Given the description of an element on the screen output the (x, y) to click on. 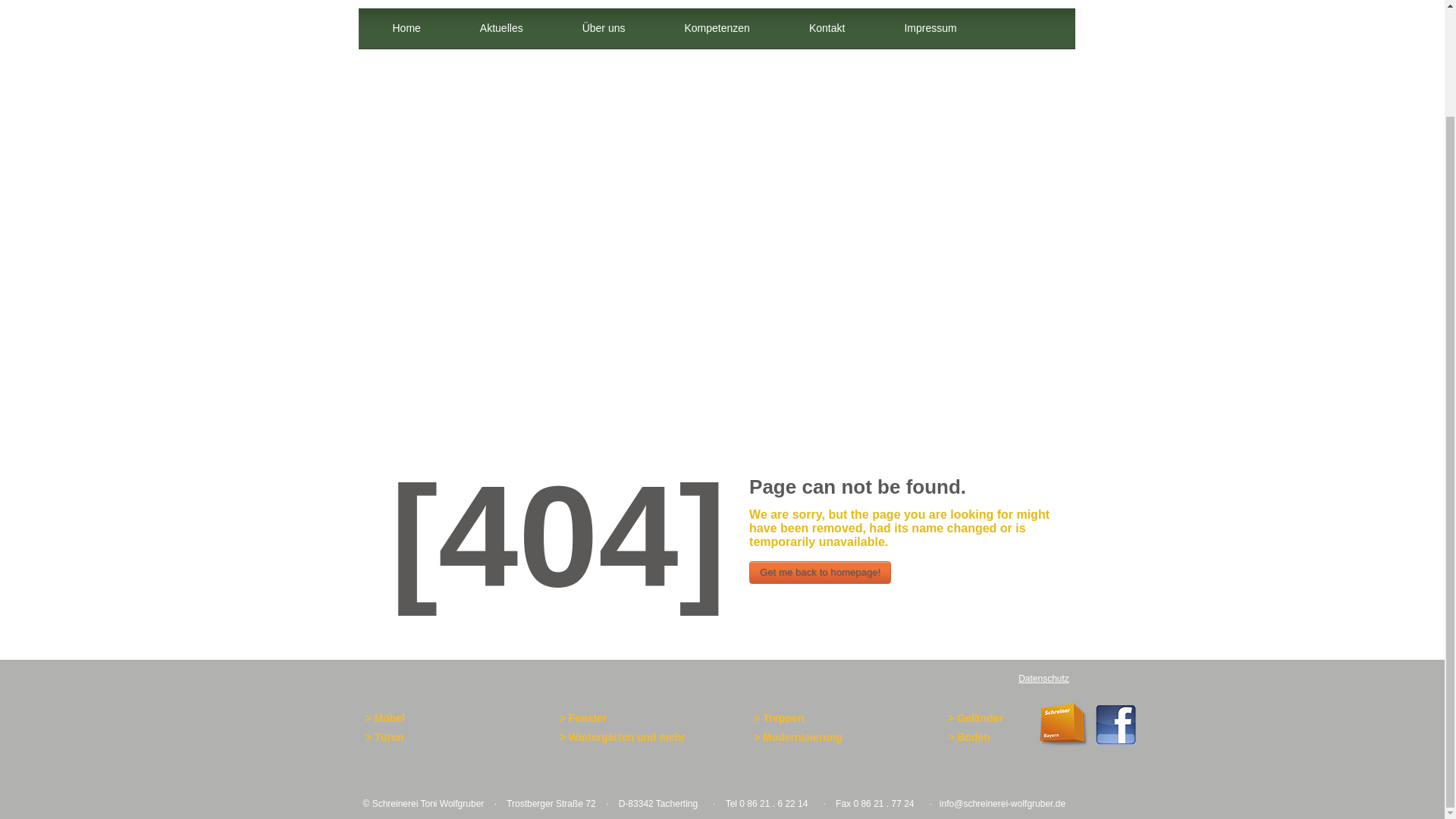
Aktuelles (501, 28)
Datenschutz (1042, 678)
Kontakt (826, 28)
Get me back to homepage! (820, 572)
search (1034, 47)
Impressum (930, 28)
search (1034, 47)
Home (406, 28)
Kompetenzen (716, 28)
